Given the description of an element on the screen output the (x, y) to click on. 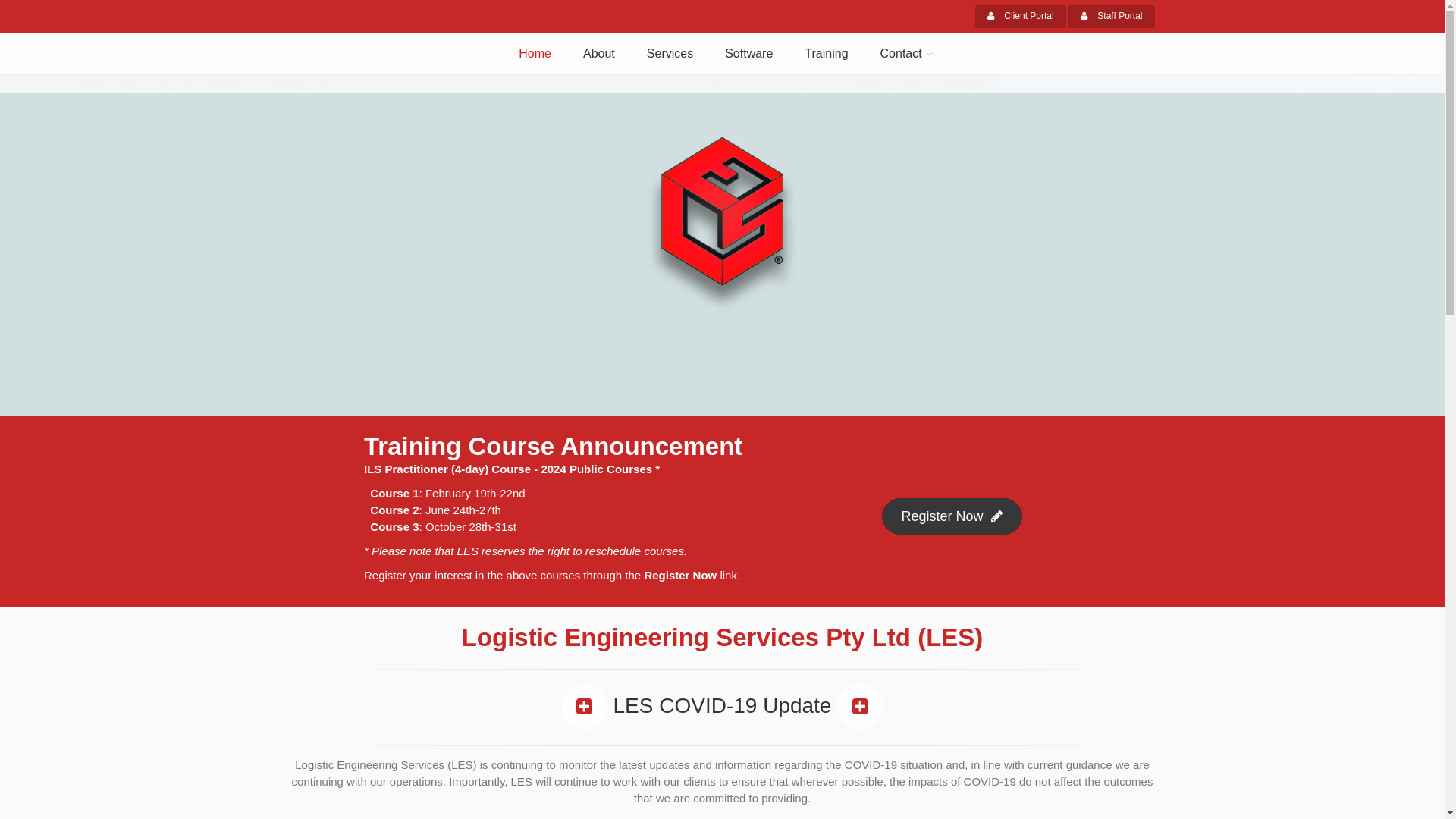
Services Element type: text (669, 53)
Home Element type: text (534, 53)
Software Element type: text (748, 53)
About Element type: text (599, 53)
Client Portal Element type: text (1020, 16)
Training Element type: text (825, 53)
Staff Portal Element type: text (1111, 16)
Contact Element type: text (903, 53)
Register Now Element type: text (951, 516)
